Given the description of an element on the screen output the (x, y) to click on. 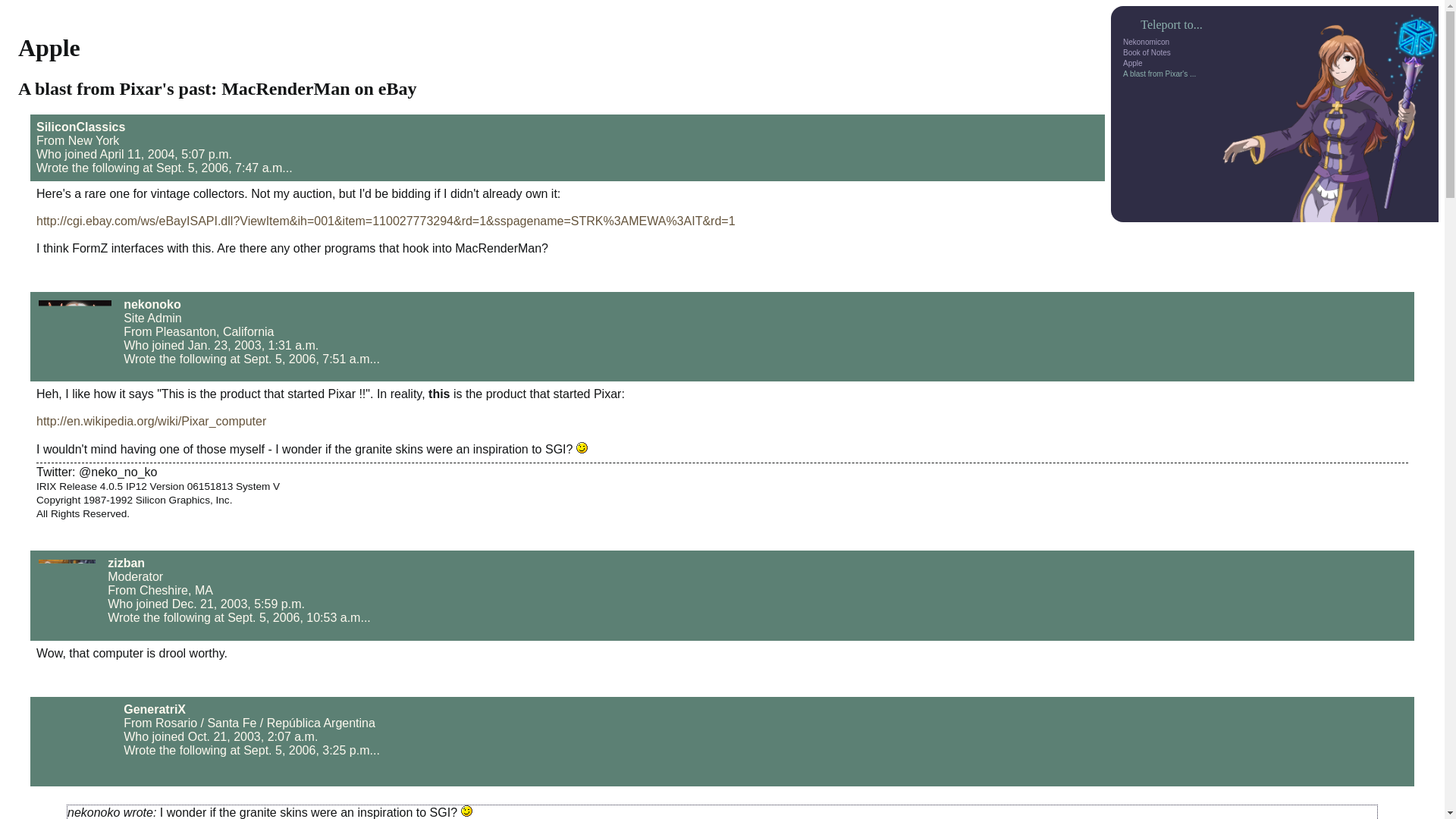
Wink (582, 447)
Wink (466, 810)
Nekonomicon (1145, 41)
Book of Notes (1146, 52)
Apple (1132, 62)
SiliconClassics (80, 126)
GeneratriX (154, 708)
nekonoko (151, 304)
zizban (125, 562)
